Given the description of an element on the screen output the (x, y) to click on. 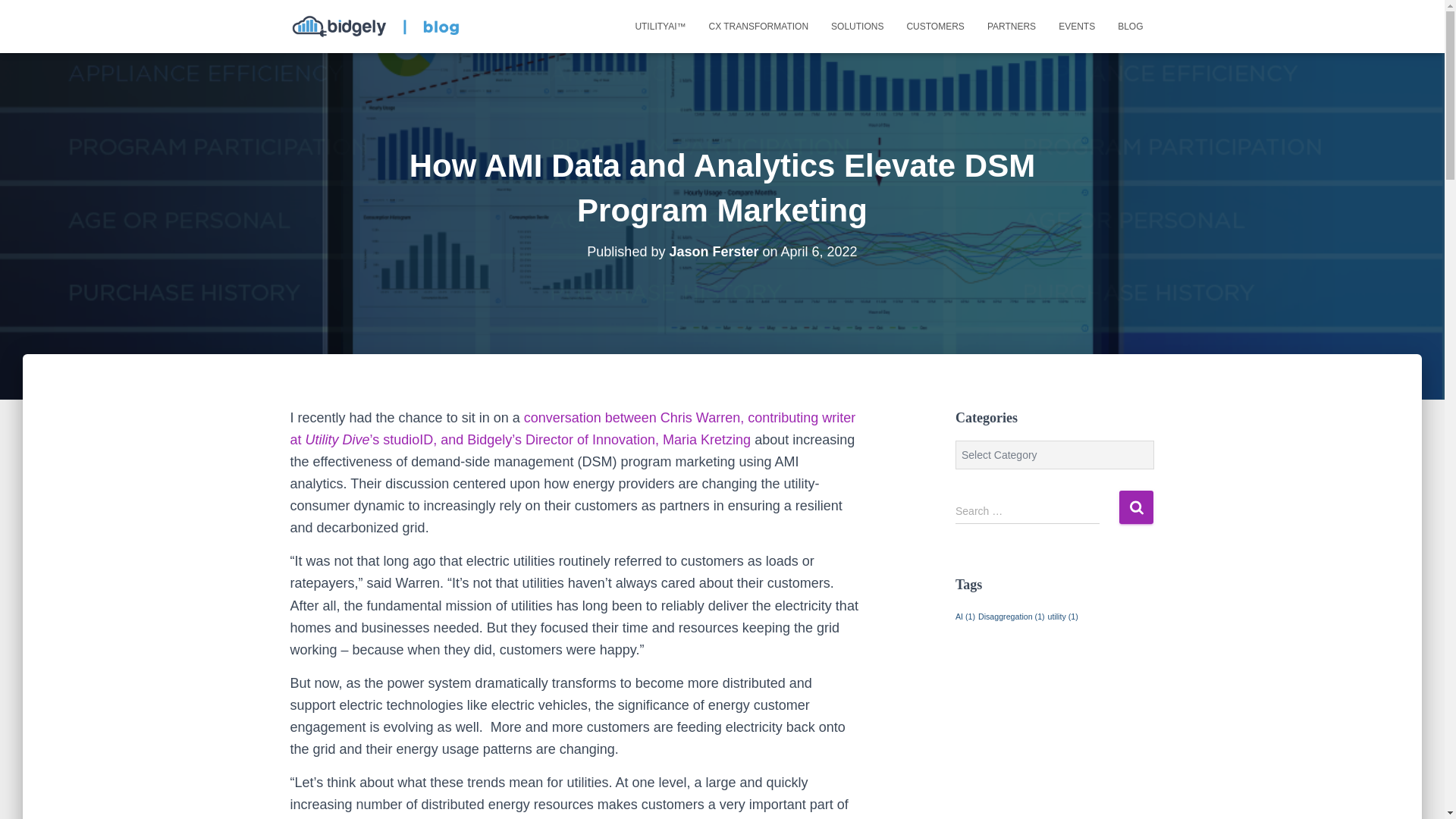
CX Transformation (759, 26)
CUSTOMERS (935, 26)
Search (1136, 506)
BLOG (1130, 26)
EVENTS (1076, 26)
Blog (1130, 26)
Customers (935, 26)
CX TRANSFORMATION (759, 26)
Bidgely (379, 26)
Search (1136, 506)
Partners (1010, 26)
Search (1136, 506)
Solutions (857, 26)
Jason Ferster (713, 251)
Events (1076, 26)
